Given the description of an element on the screen output the (x, y) to click on. 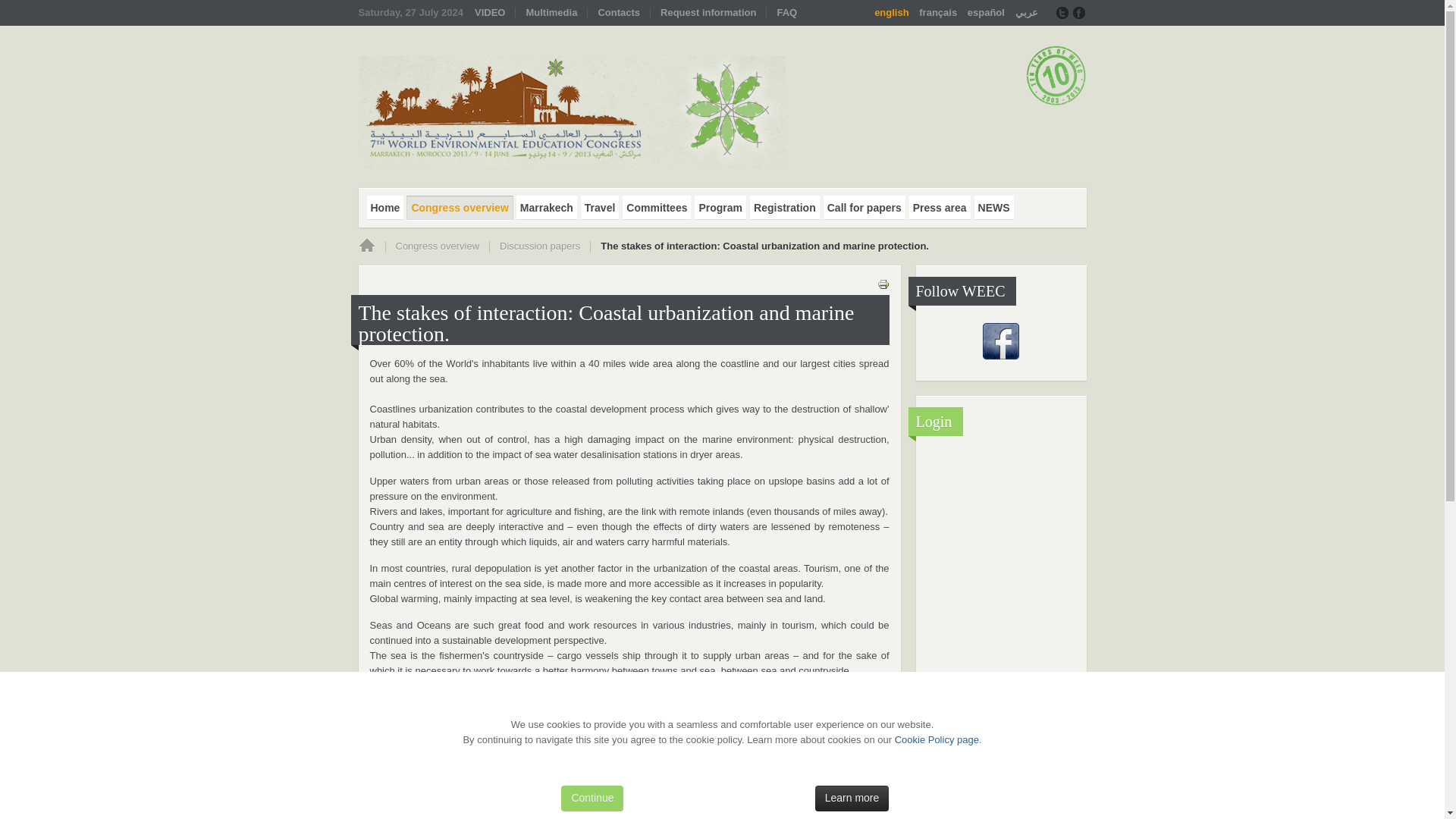
Congress overview (459, 207)
Contacts (618, 13)
Marrakech (546, 207)
VIDEO (489, 13)
Committees (656, 207)
english (893, 12)
Print (882, 286)
Program (719, 207)
Home (385, 207)
Request information (708, 13)
Multimedia (550, 13)
FAQ (786, 13)
Travel (599, 207)
